Given the description of an element on the screen output the (x, y) to click on. 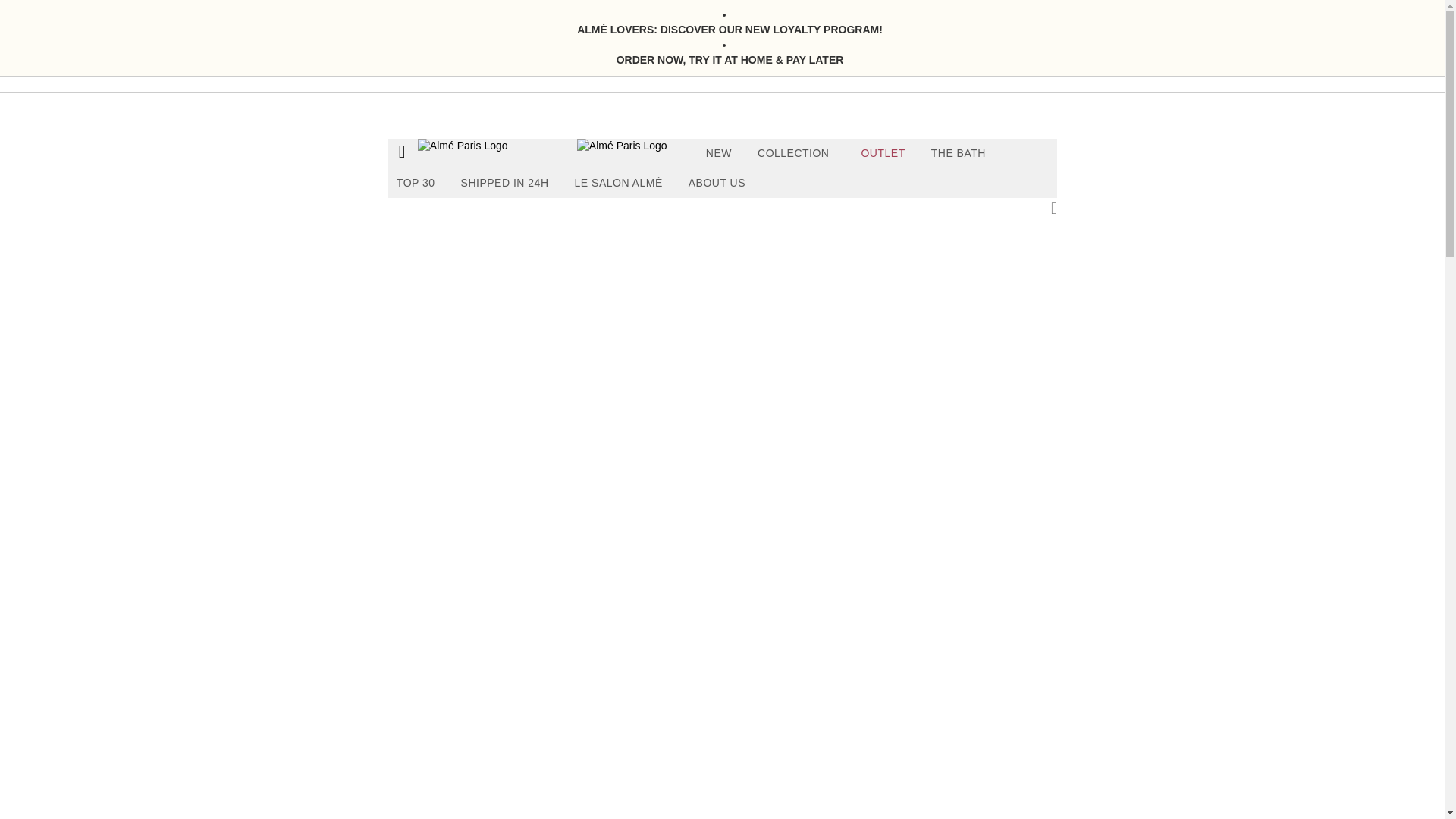
SHIPPED IN 24H (504, 183)
TOP 30 (415, 183)
NEW (723, 153)
THE BATH (957, 153)
OUTLET (882, 153)
COLLECTION (796, 153)
Create an account (1370, 123)
